Given the description of an element on the screen output the (x, y) to click on. 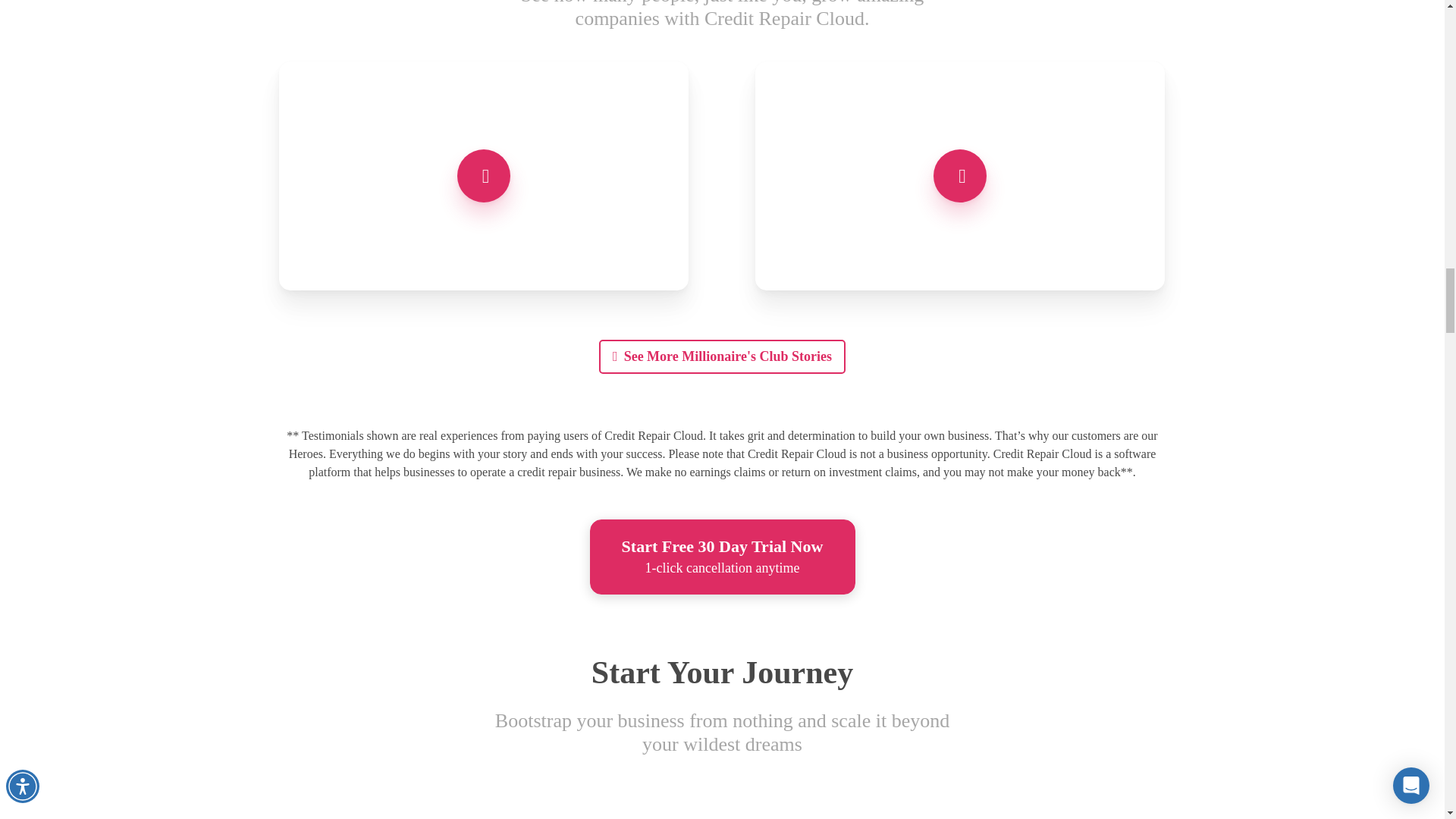
Start Free 30 Day Trial Now 1-click cancellation anytime (722, 556)
See More Millionaire's Club Stories (721, 356)
